Given the description of an element on the screen output the (x, y) to click on. 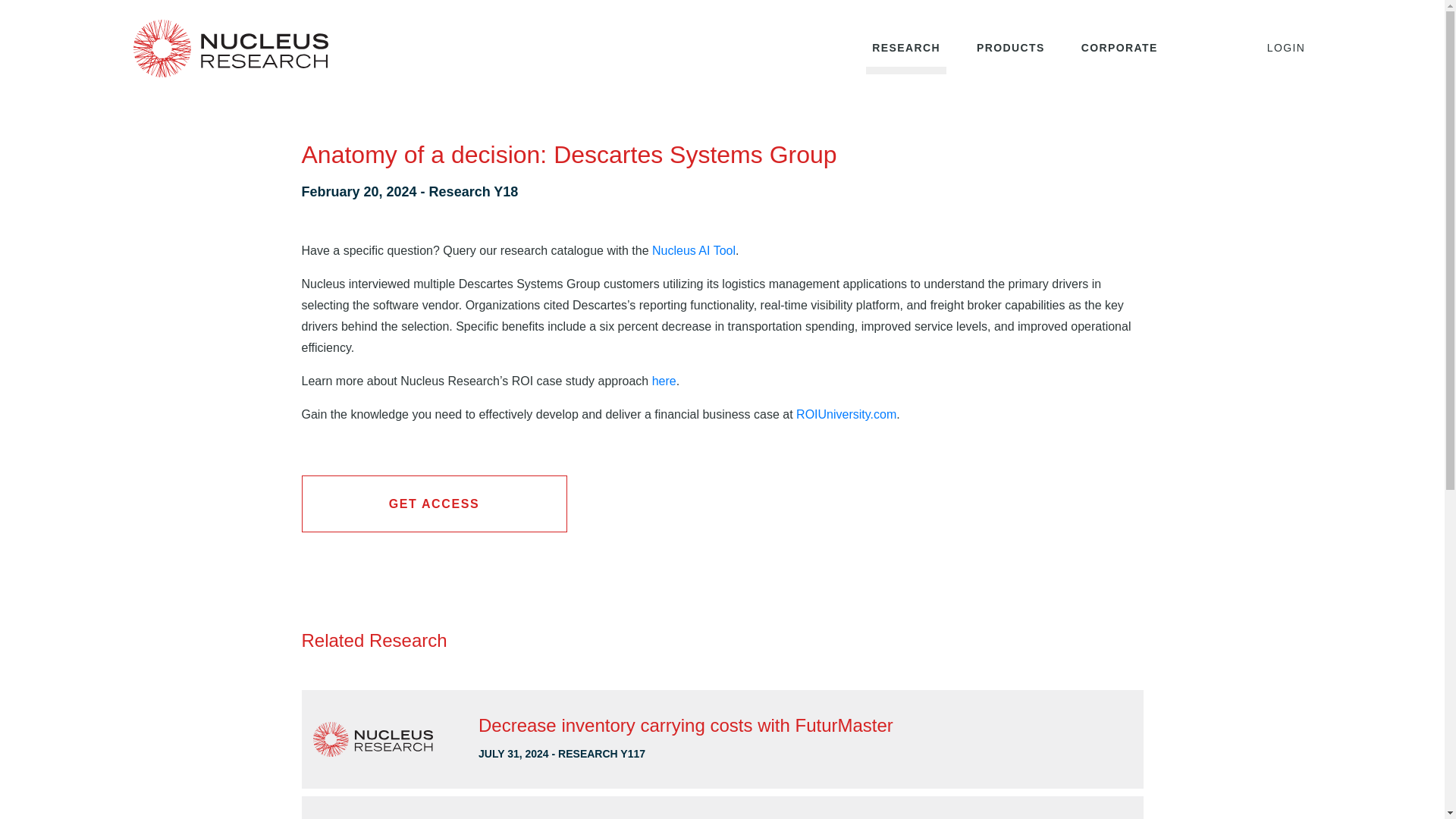
PRODUCTS (1011, 48)
CORPORATE (1119, 48)
RESEARCH (906, 48)
